Given the description of an element on the screen output the (x, y) to click on. 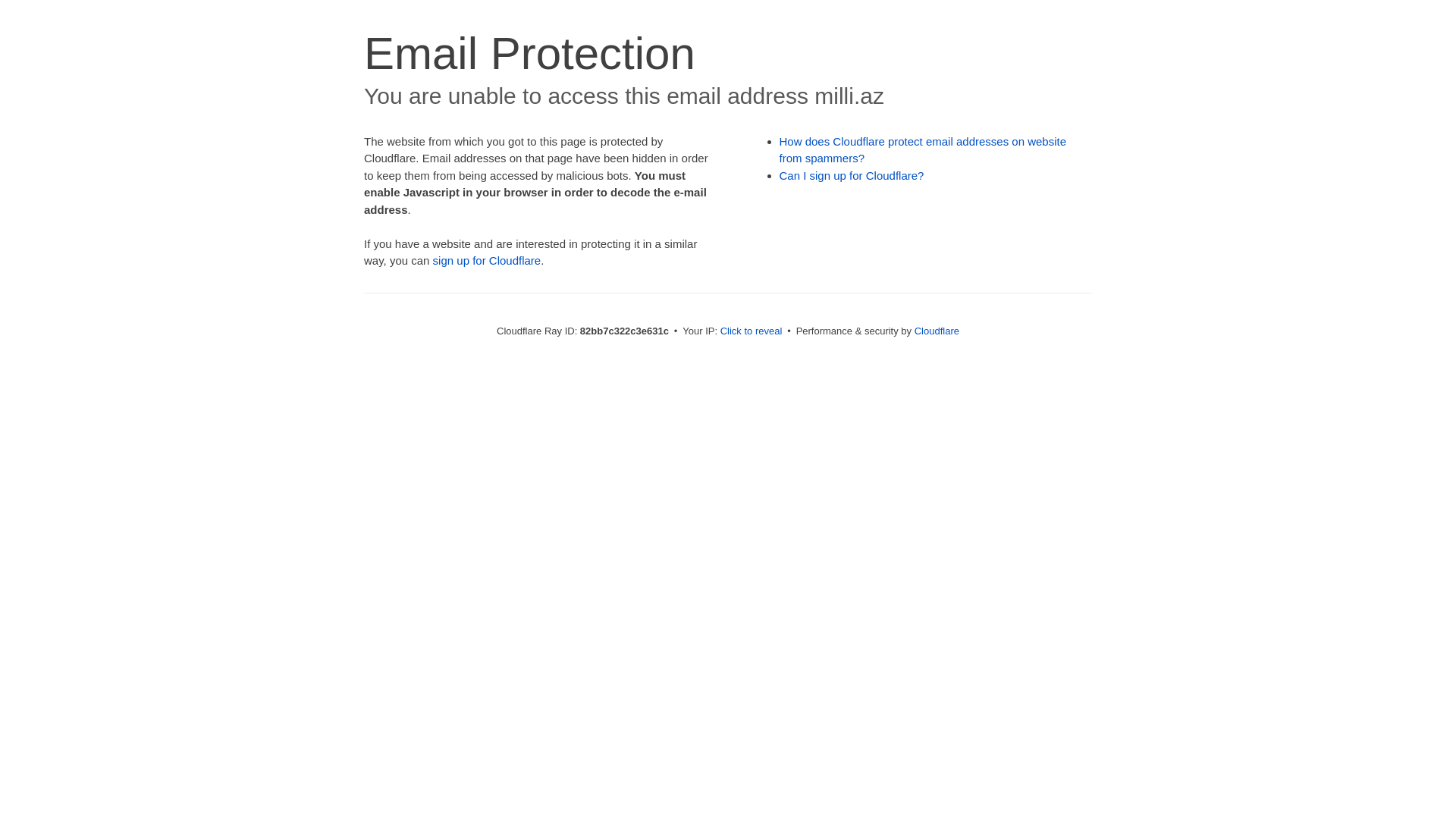
sign up for Cloudflare Element type: text (487, 260)
Cloudflare Element type: text (936, 330)
Click to reveal Element type: text (751, 330)
Can I sign up for Cloudflare? Element type: text (851, 175)
